Given the description of an element on the screen output the (x, y) to click on. 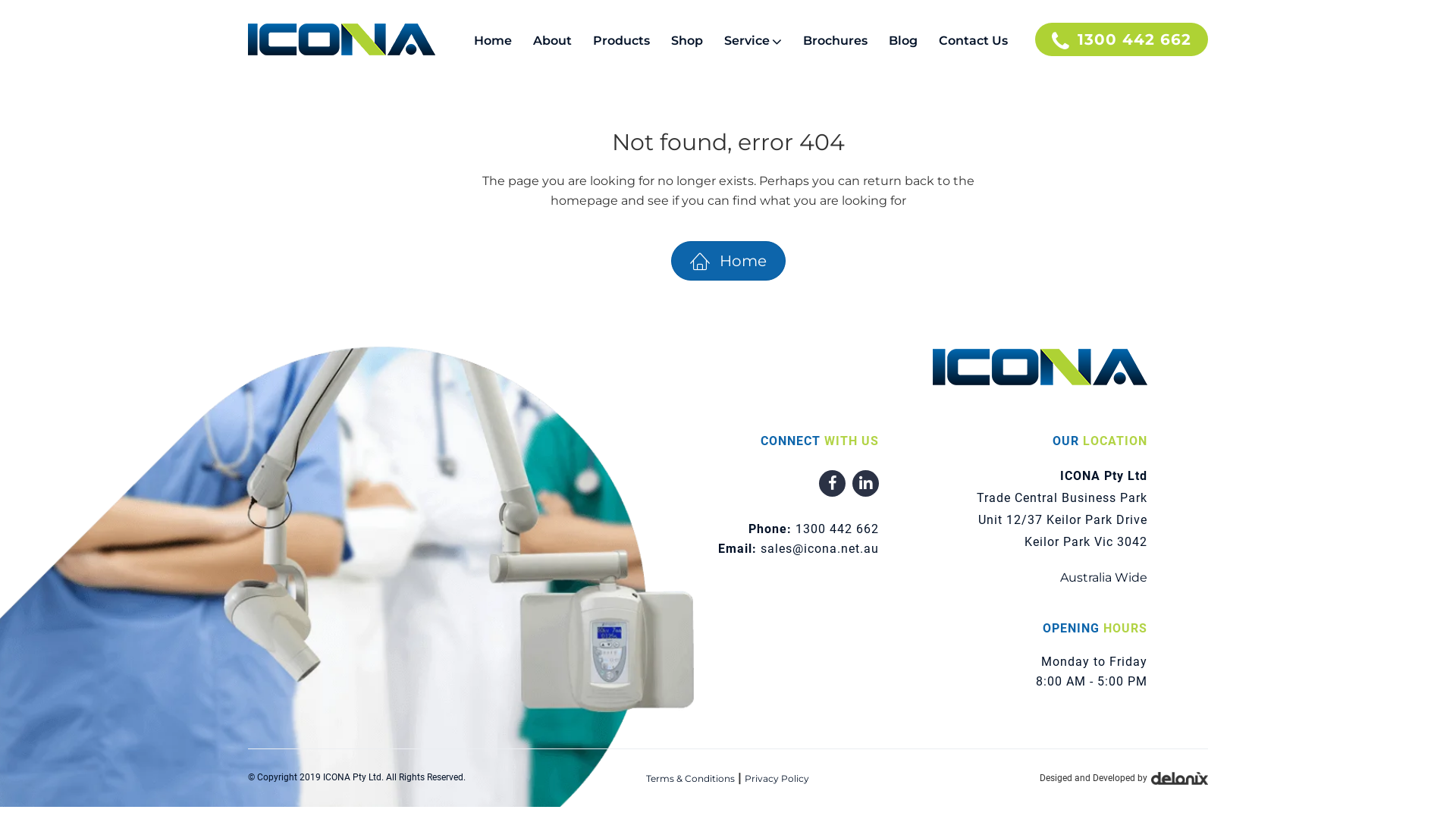
Home Element type: text (727, 260)
Contact Us Element type: text (972, 40)
Products Element type: text (620, 40)
About Element type: text (552, 40)
ICONA Pty Ltd Australia Element type: text (281, 85)
Brochures Element type: text (834, 40)
icon-footer-img Element type: hover (1039, 366)
Service Element type: text (752, 41)
Privacy Policy Element type: text (776, 778)
Blog Element type: text (902, 40)
Home Element type: text (496, 40)
Shop Element type: text (687, 40)
1300 442 662 Element type: text (836, 528)
1300 442 662 Element type: text (1121, 39)
Terms & Conditions Element type: text (690, 778)
Skip to primary navigation Element type: text (0, 0)
sales@icona.net.au Element type: text (819, 548)
